Given the description of an element on the screen output the (x, y) to click on. 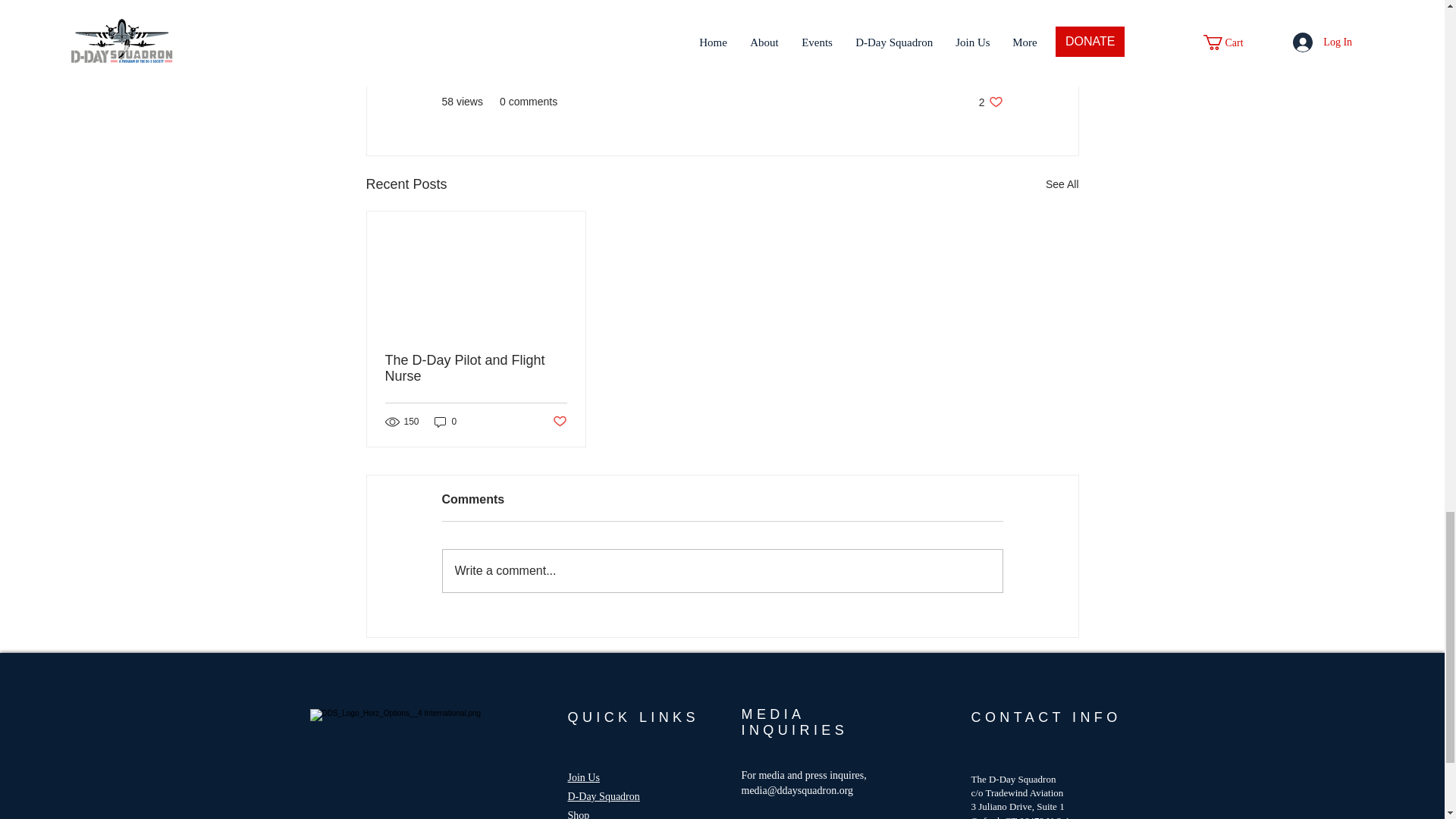
The D-Day Pilot and Flight Nurse (476, 368)
See All (990, 101)
